Given the description of an element on the screen output the (x, y) to click on. 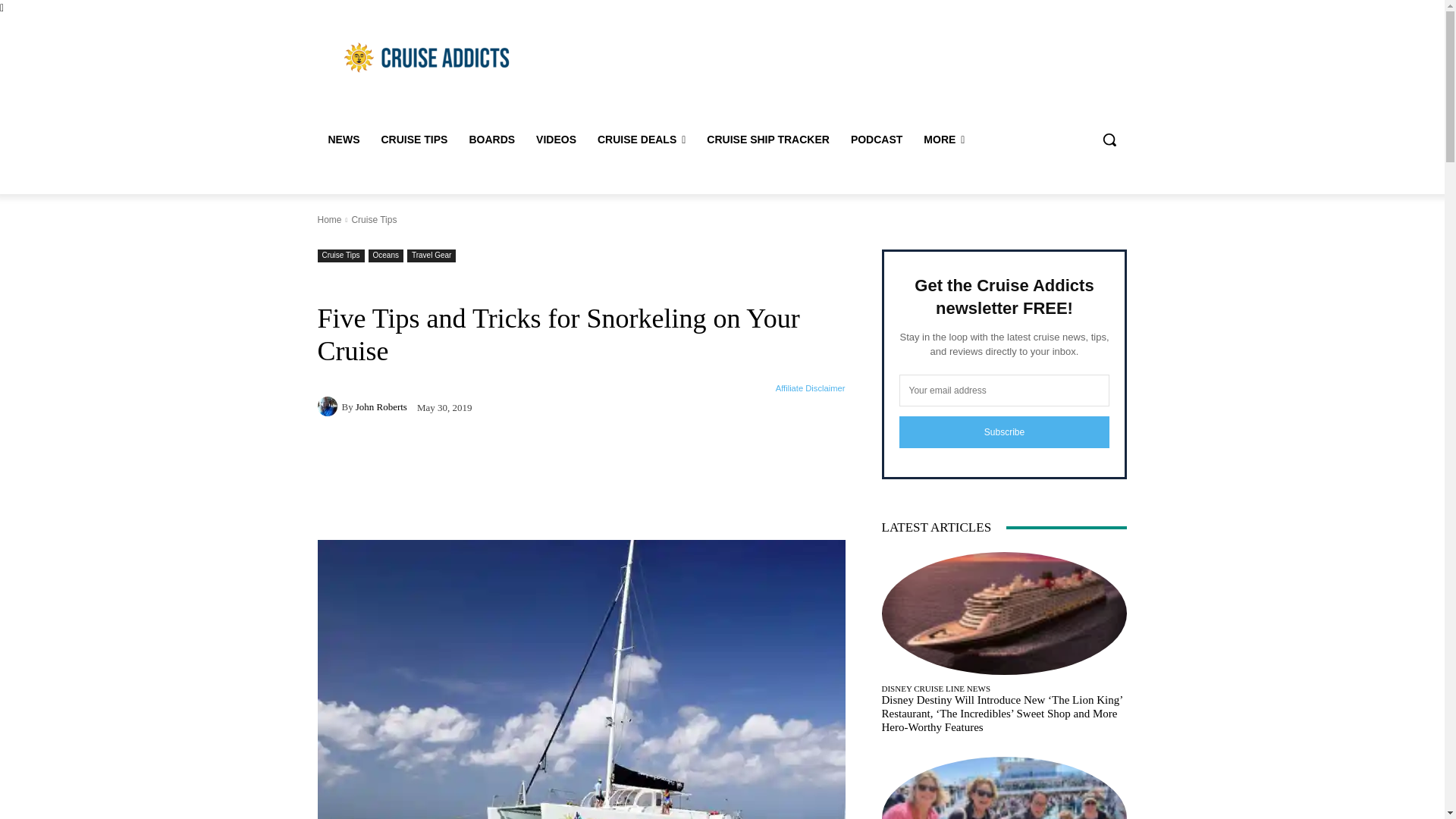
Cruise Tips (413, 139)
CRUISE DEALS (640, 139)
News (343, 139)
BOARDS (491, 139)
VIDEOS (555, 139)
NEWS (343, 139)
CRUISE TIPS (413, 139)
Videos (555, 139)
